Given the description of an element on the screen output the (x, y) to click on. 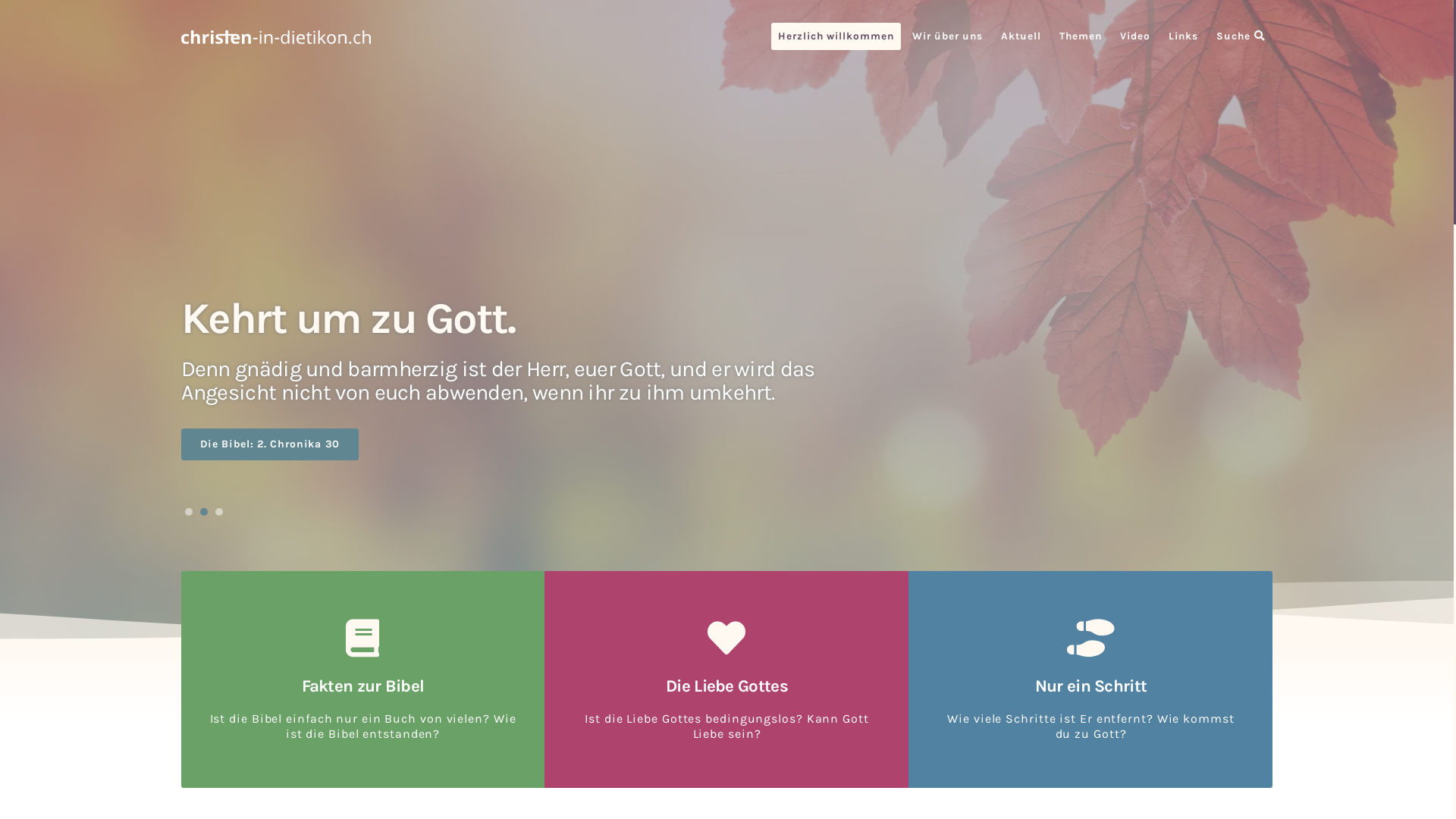
Video Element type: text (1135, 36)
Herzlich willkommen Element type: text (835, 36)
Themen Element type: text (1080, 36)
Weiterlesen Element type: text (231, 444)
Suche Element type: text (1240, 36)
Links Element type: text (1182, 36)
Aktuell Element type: text (1021, 36)
